Given the description of an element on the screen output the (x, y) to click on. 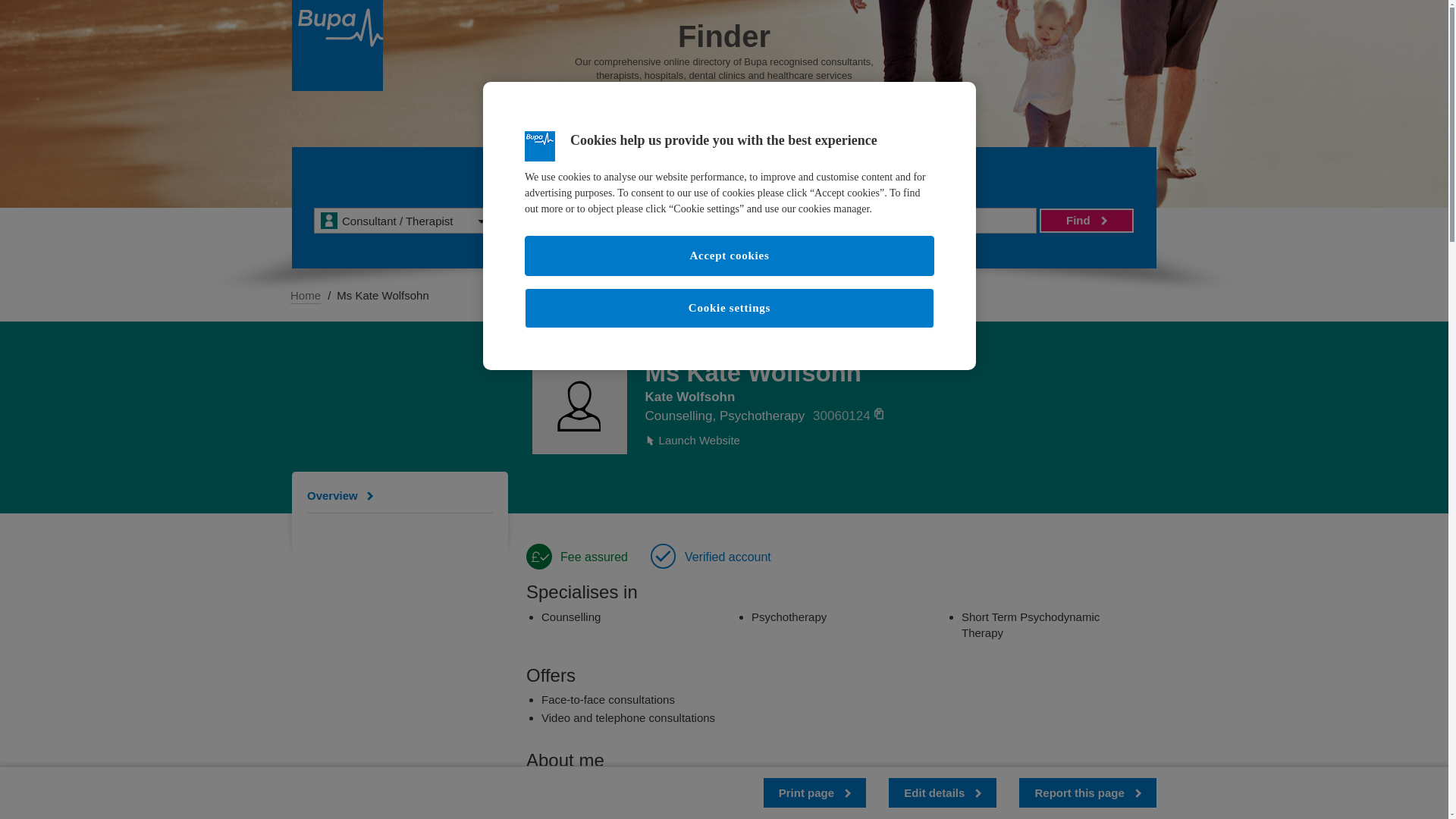
Edit details (941, 792)
Home (304, 296)
Launch Website (692, 440)
Report this page (1087, 792)
Overview (344, 495)
Update and verify your Bupa Finder profile (941, 792)
Find (1086, 220)
Print page (814, 792)
